Given the description of an element on the screen output the (x, y) to click on. 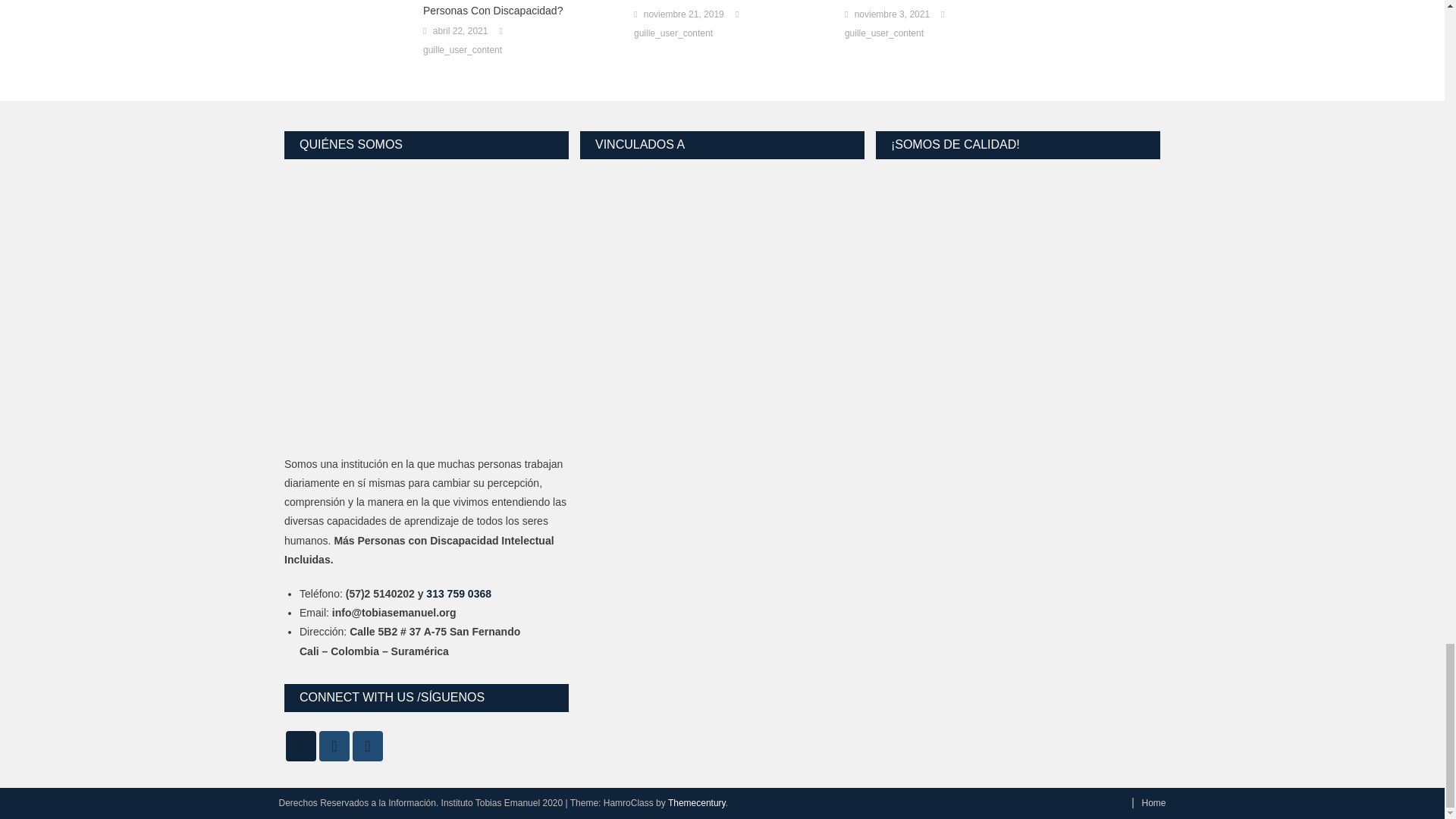
HamroClass Social Media Icons (300, 746)
HamroClass Social Media Icons (367, 746)
HamroClass Social Media Icons (333, 746)
